Given the description of an element on the screen output the (x, y) to click on. 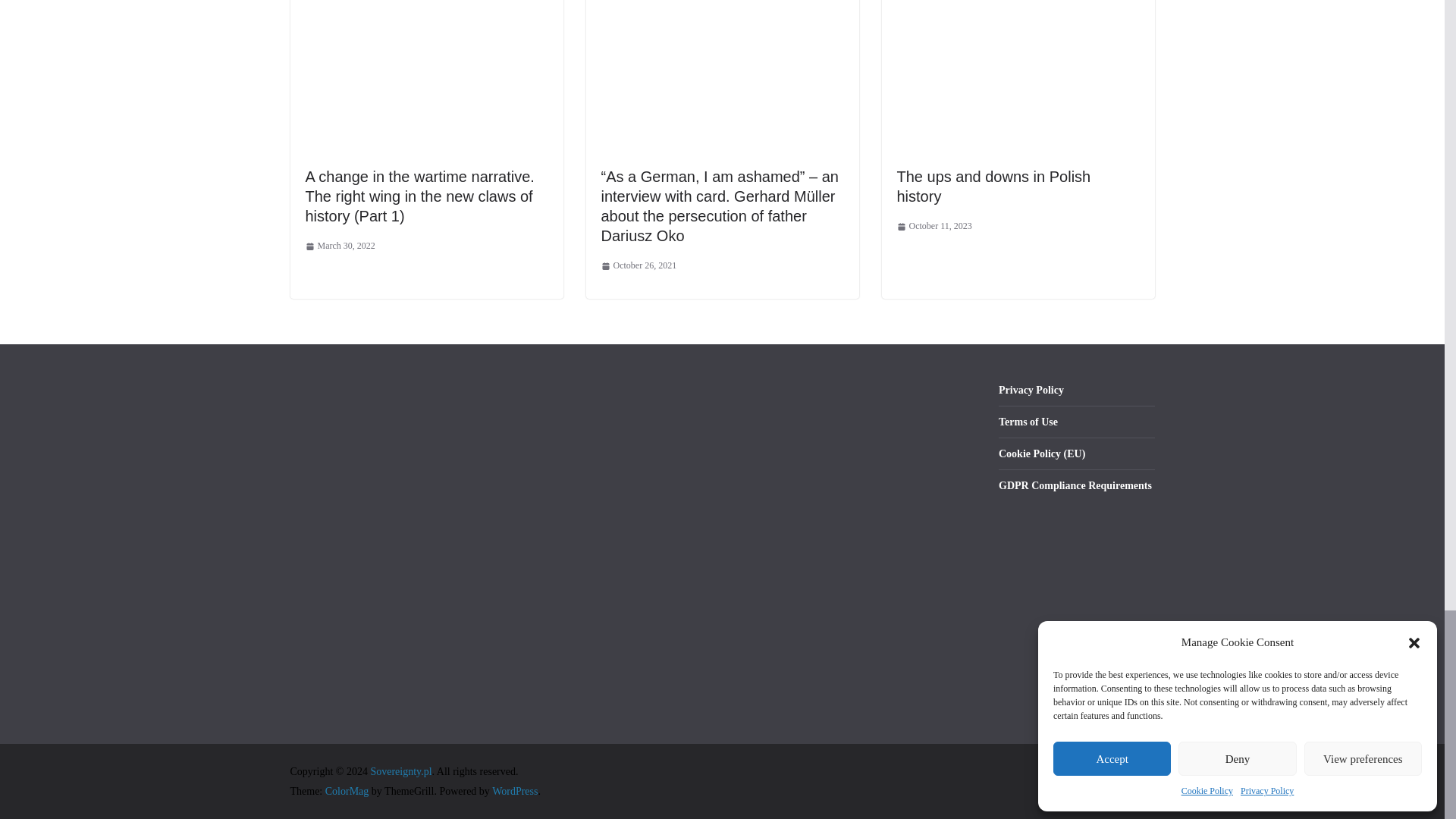
Sovereignty.pl (399, 771)
March 30, 2022 (339, 246)
9:30 am (933, 226)
ColorMag (346, 790)
The ups and downs in Polish history (993, 186)
8:53 pm (638, 265)
10:22 am (339, 246)
